Given the description of an element on the screen output the (x, y) to click on. 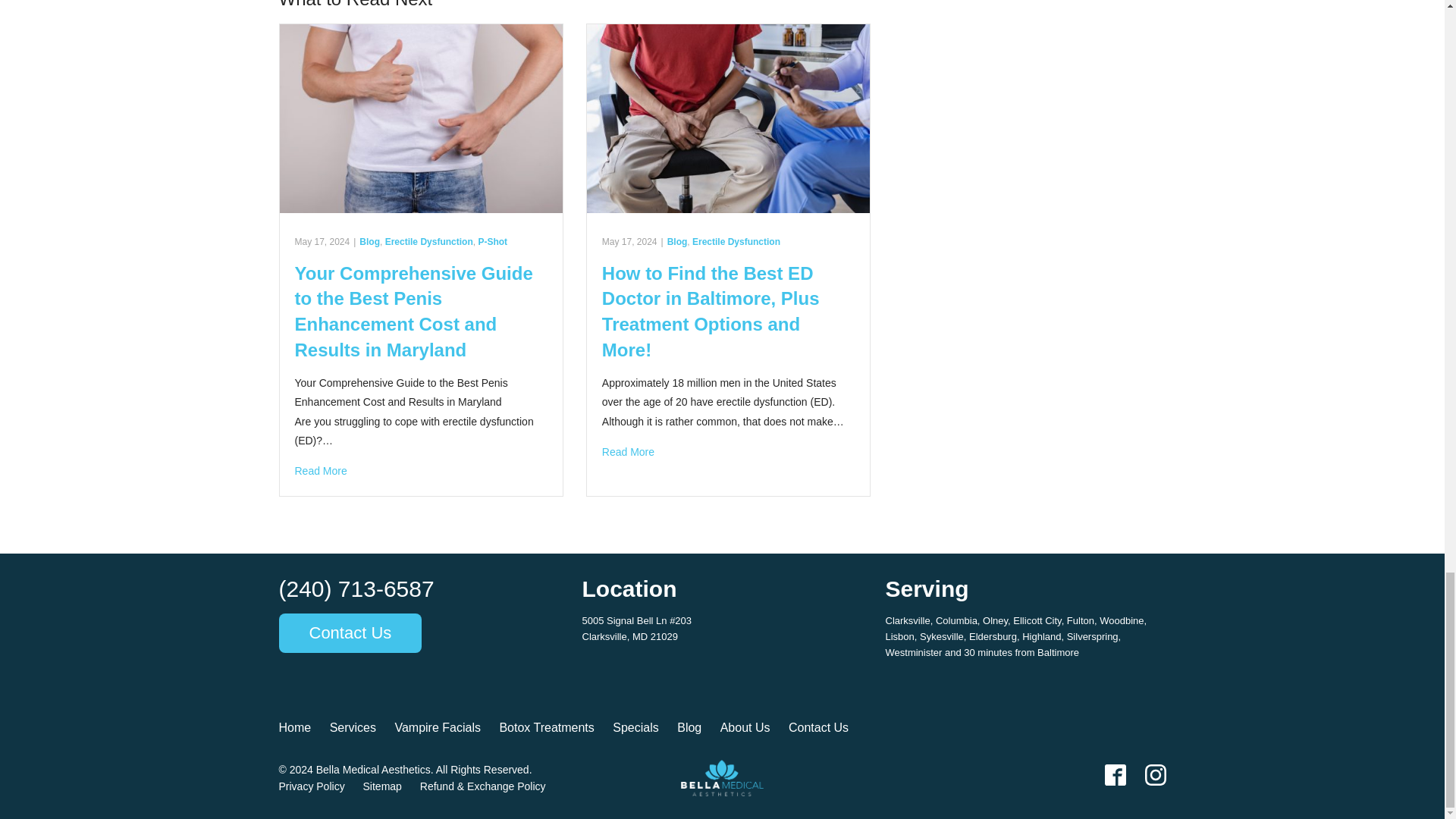
facebook (1115, 774)
instagram (1155, 774)
